Given the description of an element on the screen output the (x, y) to click on. 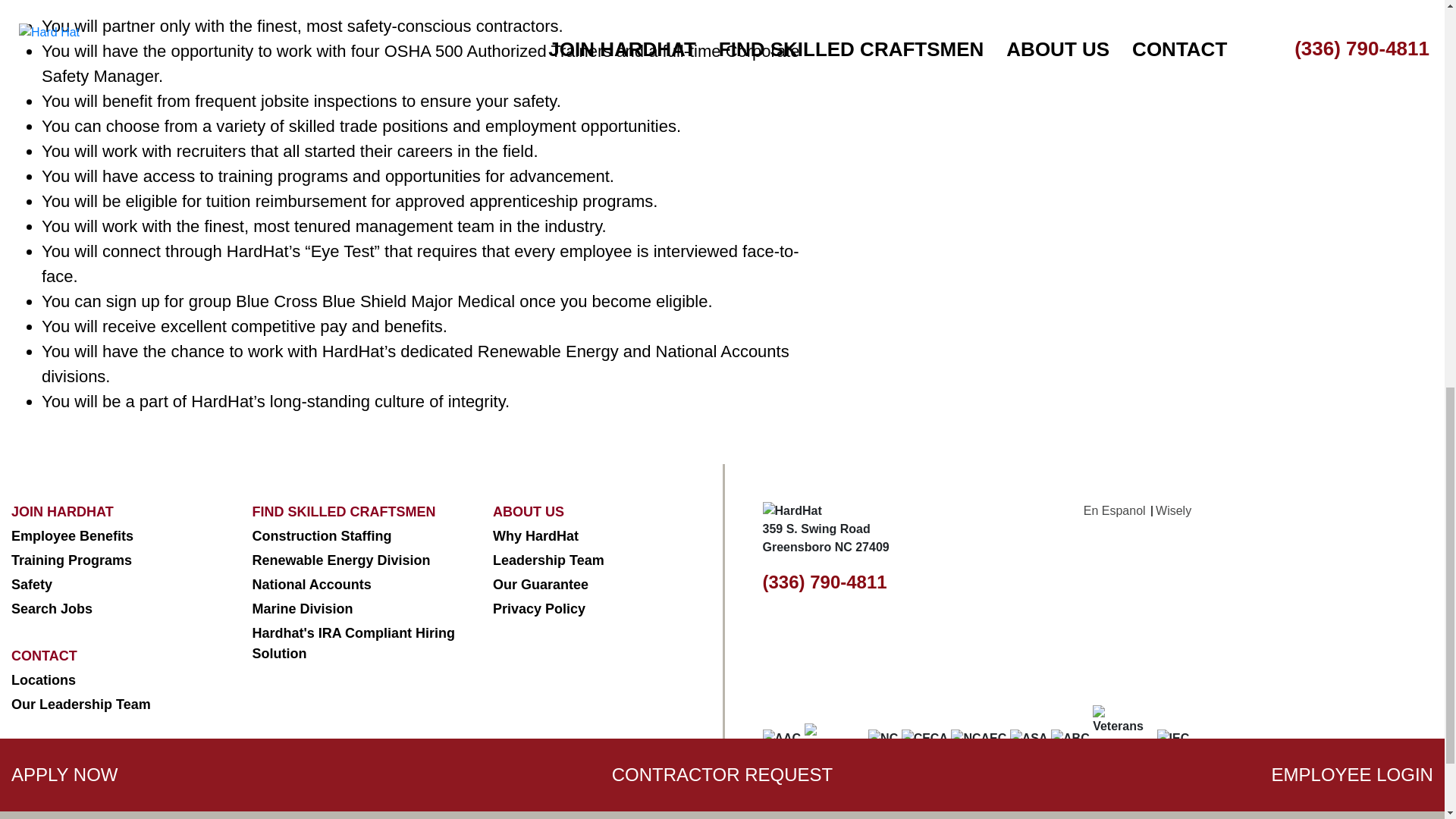
NCAEC (978, 738)
ABC (1070, 738)
CECA (924, 738)
NC (882, 738)
NCCEBA (834, 738)
ASA (1029, 738)
Veterans Entering Transition (1123, 738)
IEC (1173, 738)
AAC (782, 738)
HardHat (792, 511)
